Given the description of an element on the screen output the (x, y) to click on. 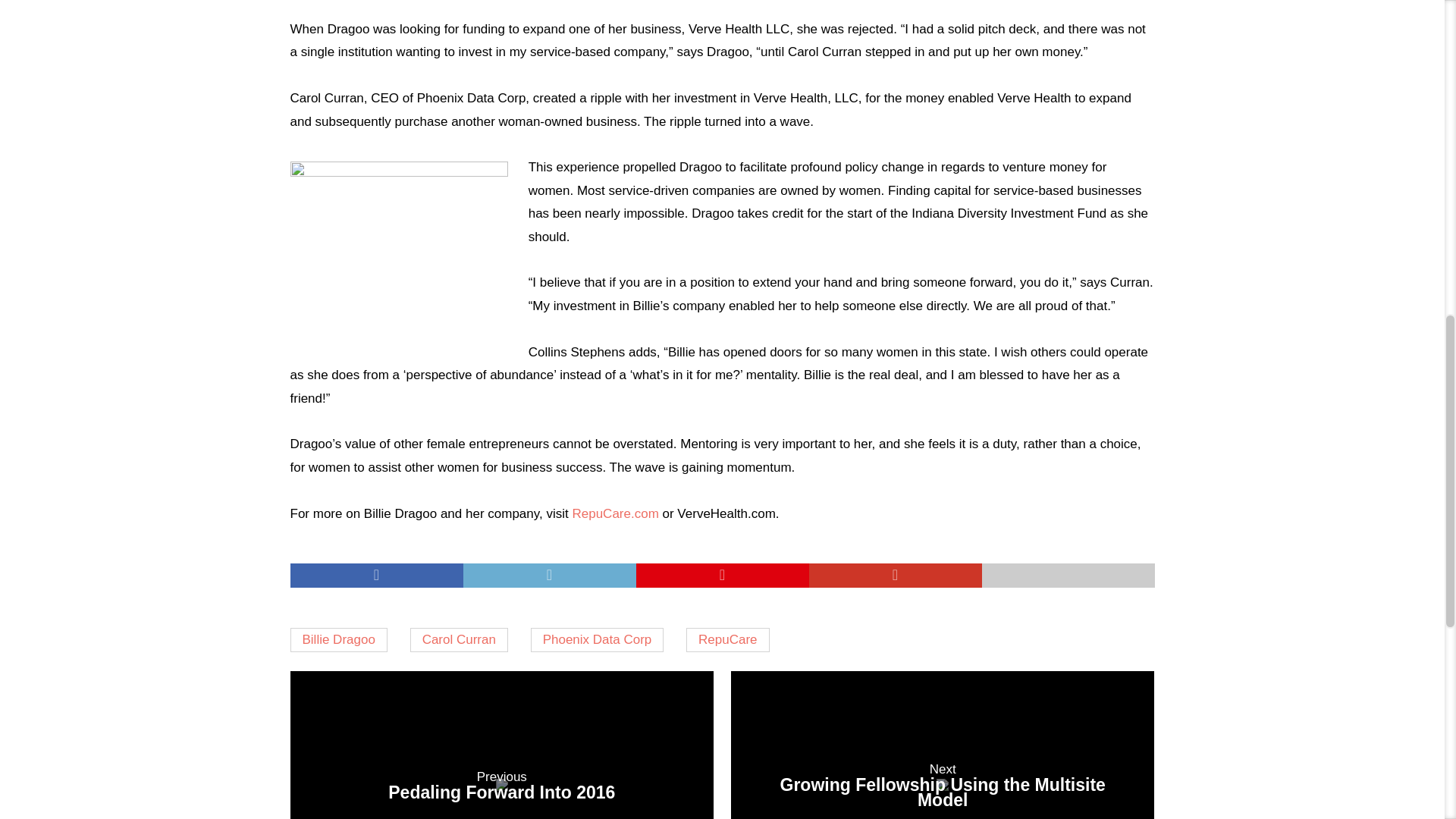
Carol Curran (459, 639)
RepuCare.com (615, 513)
Pin This Post (721, 575)
Tweet This Post (548, 575)
Phoenix Data Corp (597, 639)
RepuCare (727, 639)
Send this article to a friend (1067, 575)
Billie Dragoo (501, 744)
Share on Facebook (338, 639)
